Given the description of an element on the screen output the (x, y) to click on. 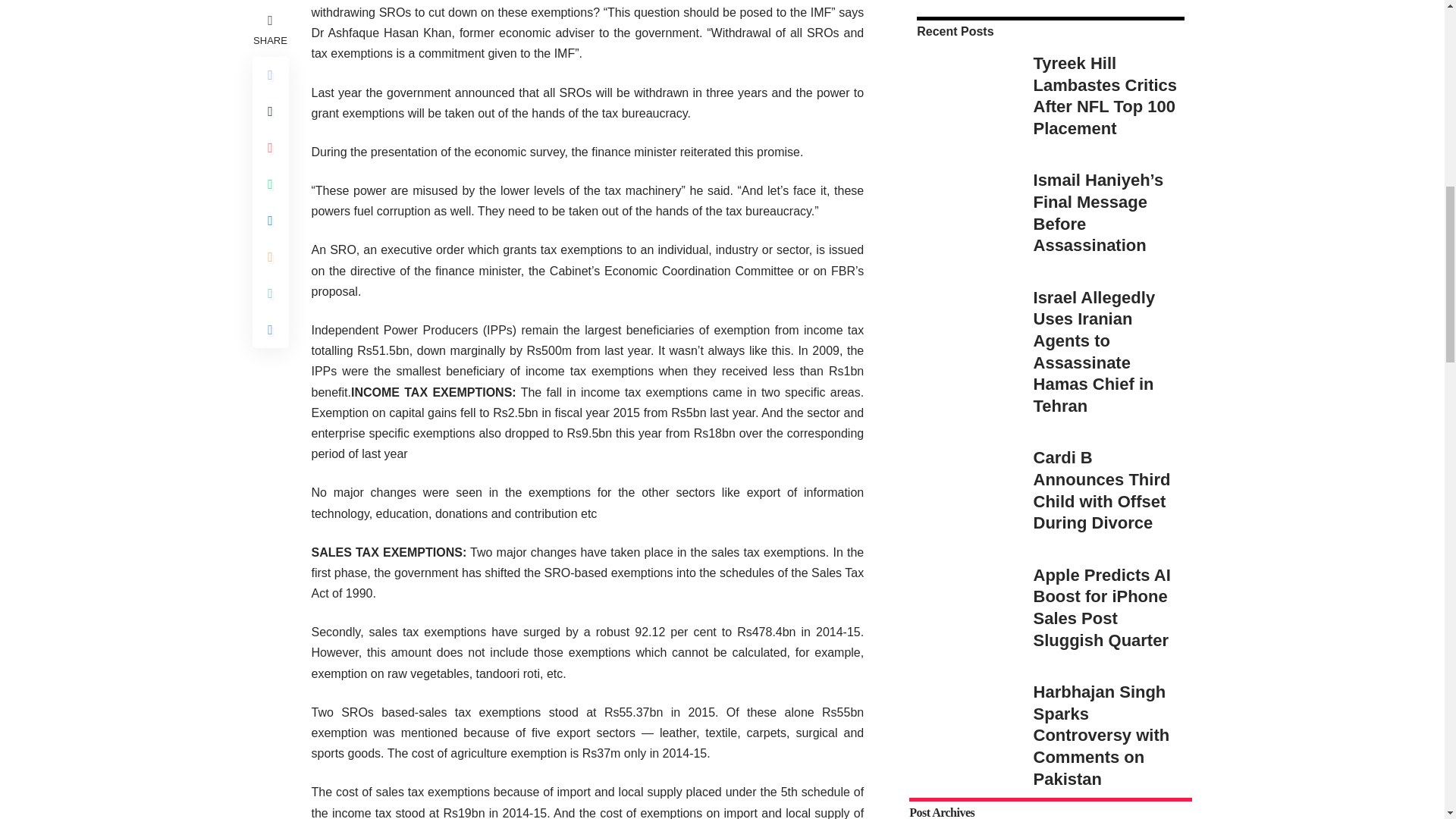
Harbhajan Singh Sparks Controversy with Comments on Pakistan (963, 468)
Cardi B Announces Third Child with Offset During Divorce (963, 223)
